Given the description of an element on the screen output the (x, y) to click on. 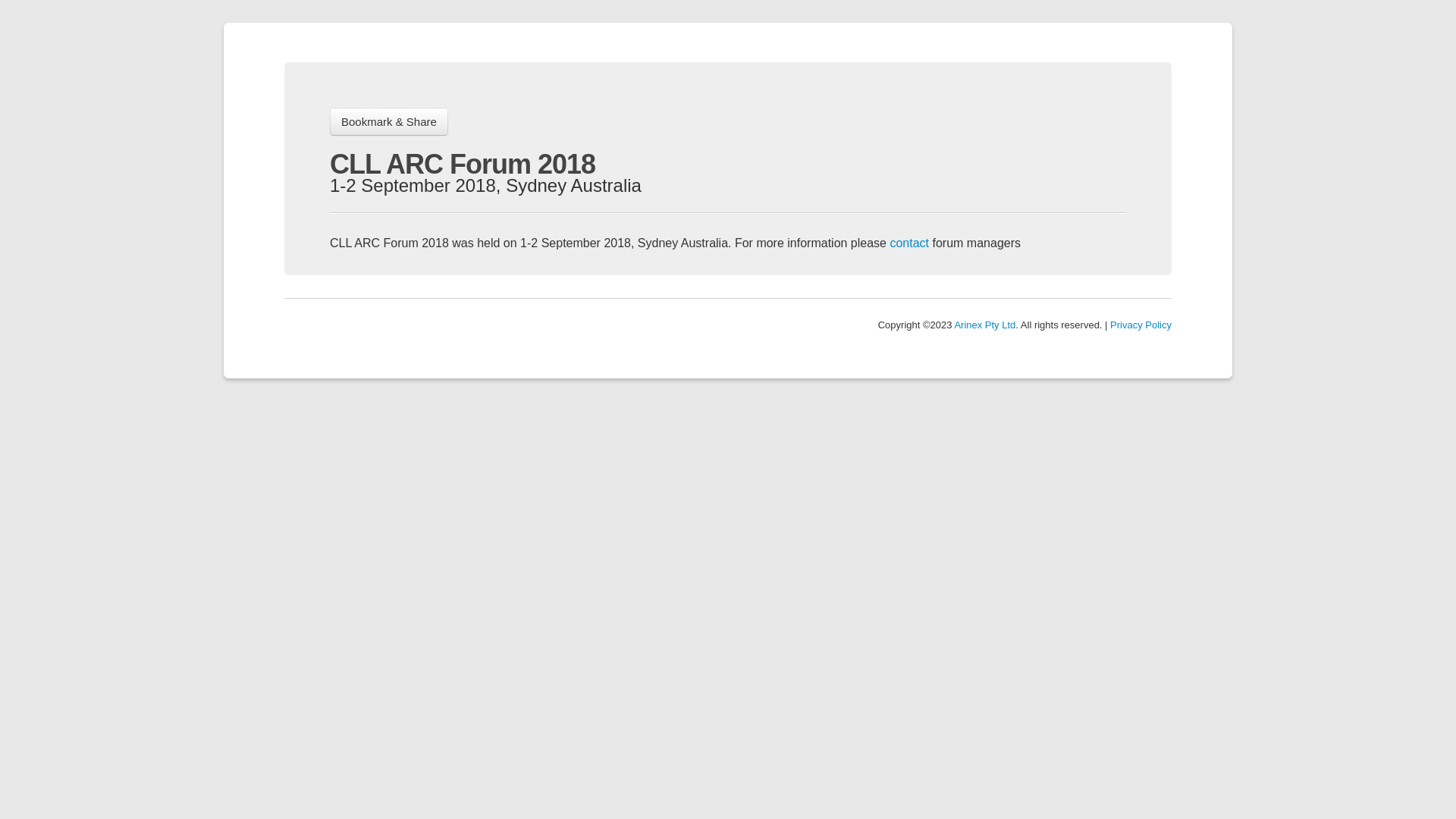
Bookmark & Share Element type: text (388, 121)
Arinex Pty Ltd Element type: text (984, 324)
contact Element type: text (908, 242)
Privacy Policy Element type: text (1140, 324)
